Given the description of an element on the screen output the (x, y) to click on. 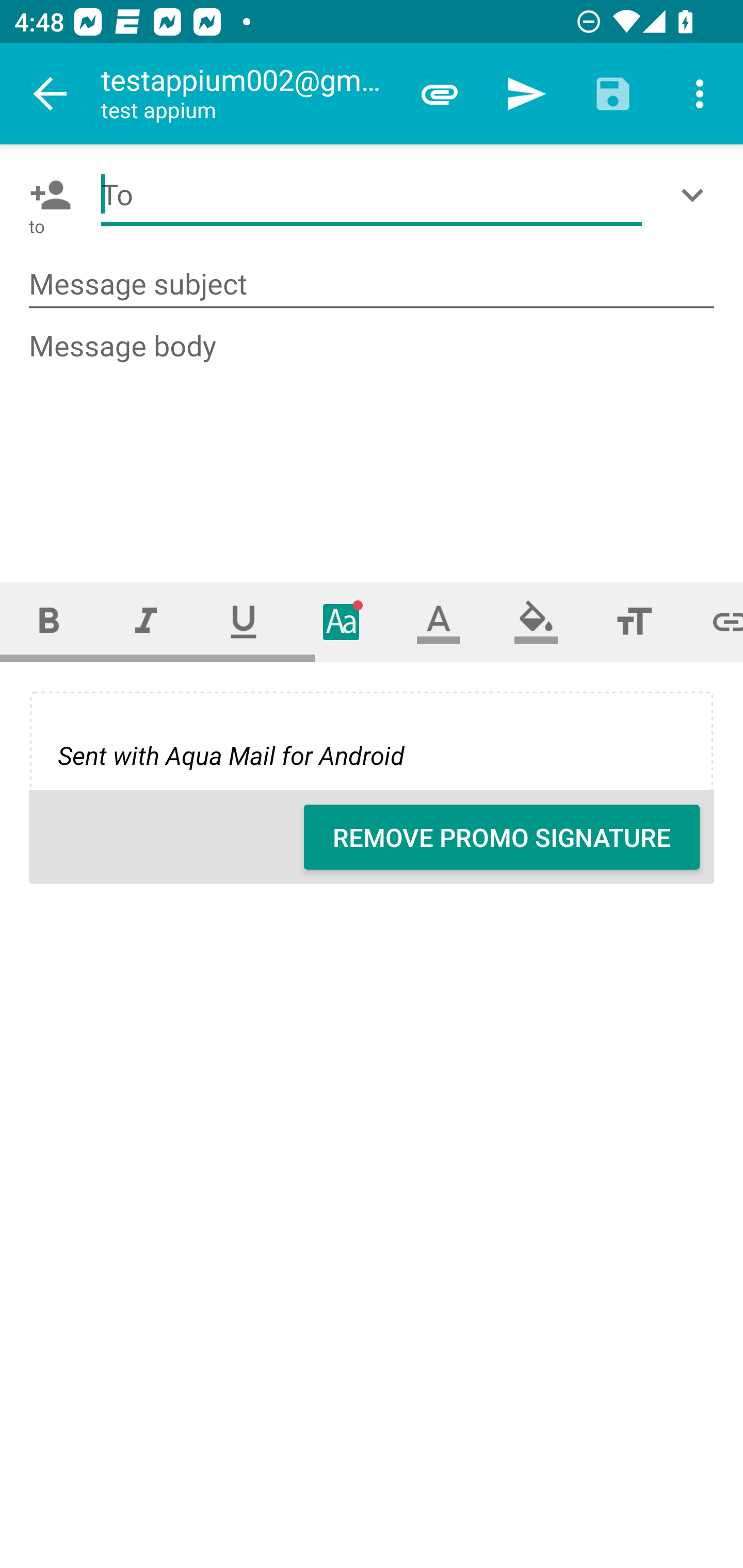
Navigate up (50, 93)
testappium002@gmail.com test appium (248, 93)
Attach (439, 93)
Send (525, 93)
Save (612, 93)
More options (699, 93)
Pick contact: To (46, 195)
Show/Add CC/BCC (696, 195)
To (371, 195)
Message subject (371, 284)
Bold (48, 621)
Italic (145, 621)
Underline (243, 621)
Typeface (font) (341, 621)
Text color (438, 621)
Fill color (536, 621)
Font size (633, 621)
Set link (712, 621)
REMOVE PROMO SIGNATURE (501, 837)
